Given the description of an element on the screen output the (x, y) to click on. 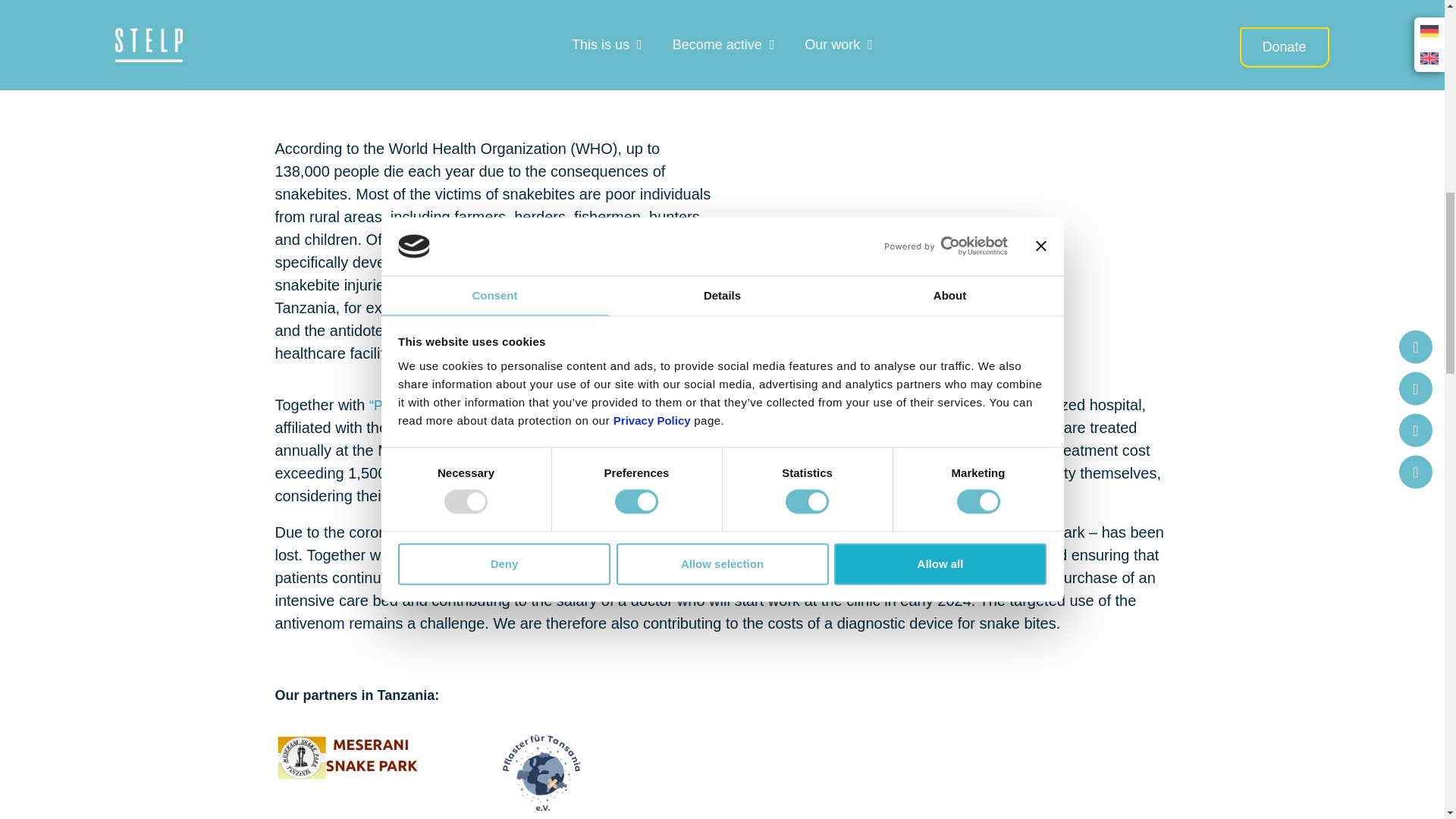
Meserani Snake Park Logo (350, 758)
